Given the description of an element on the screen output the (x, y) to click on. 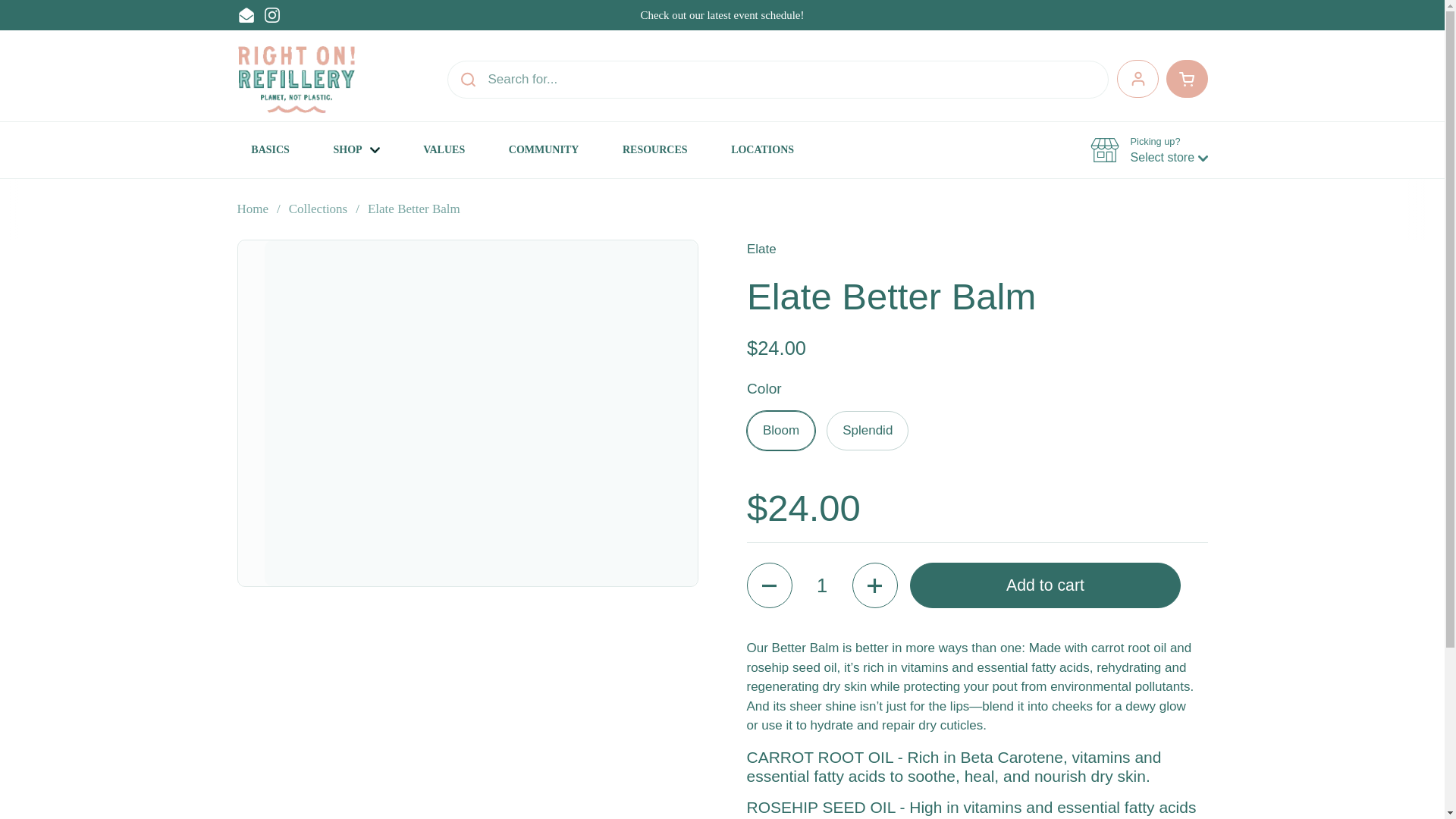
Open cart (1187, 78)
Open cart (1136, 78)
COMMUNITY (542, 150)
LOCATIONS (762, 150)
Email (244, 14)
Instagram (271, 14)
VALUES (443, 150)
RESOURCES (654, 150)
Check out our latest event schedule! (722, 15)
